Given the description of an element on the screen output the (x, y) to click on. 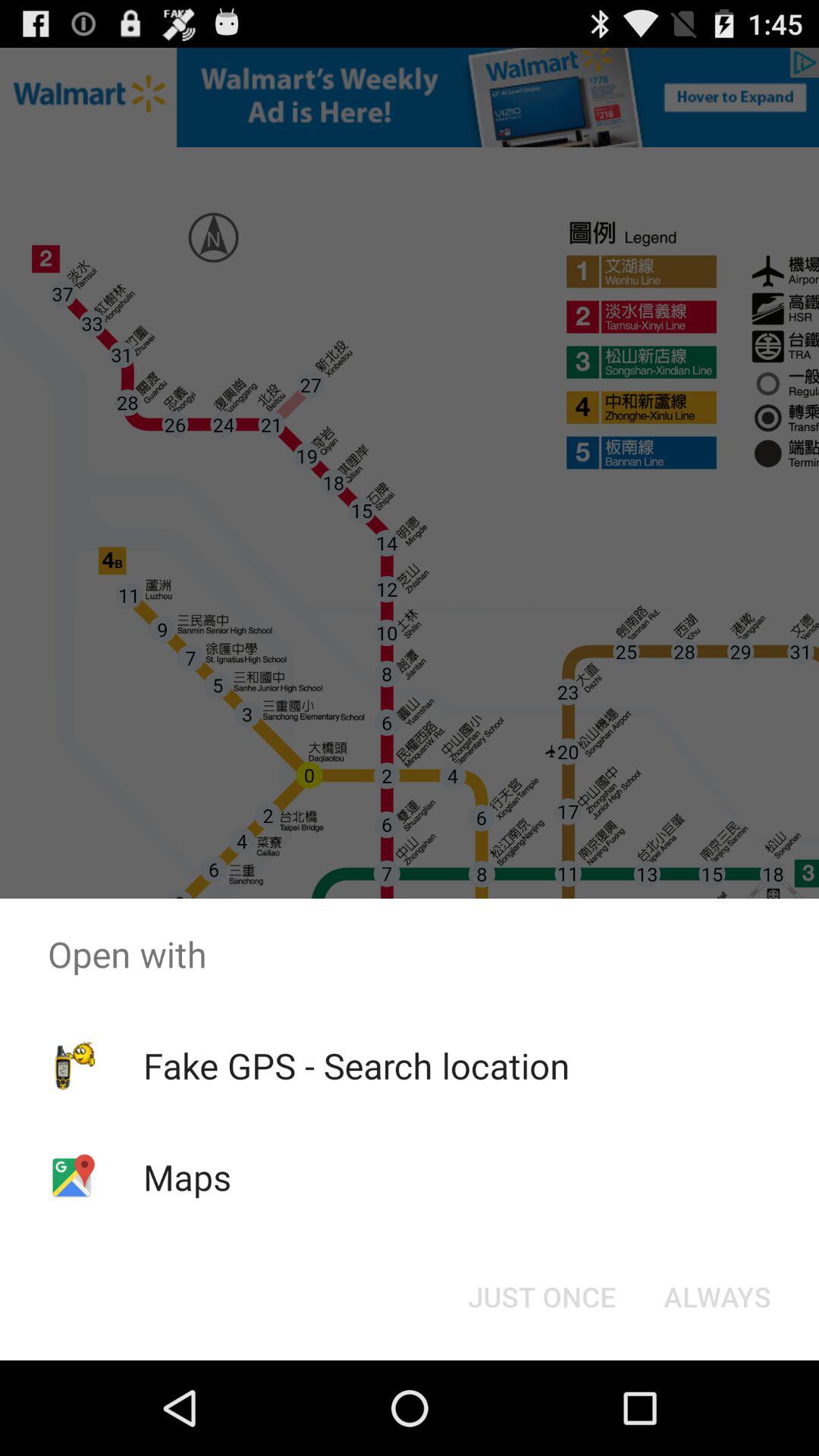
flip until the fake gps search (356, 1065)
